Given the description of an element on the screen output the (x, y) to click on. 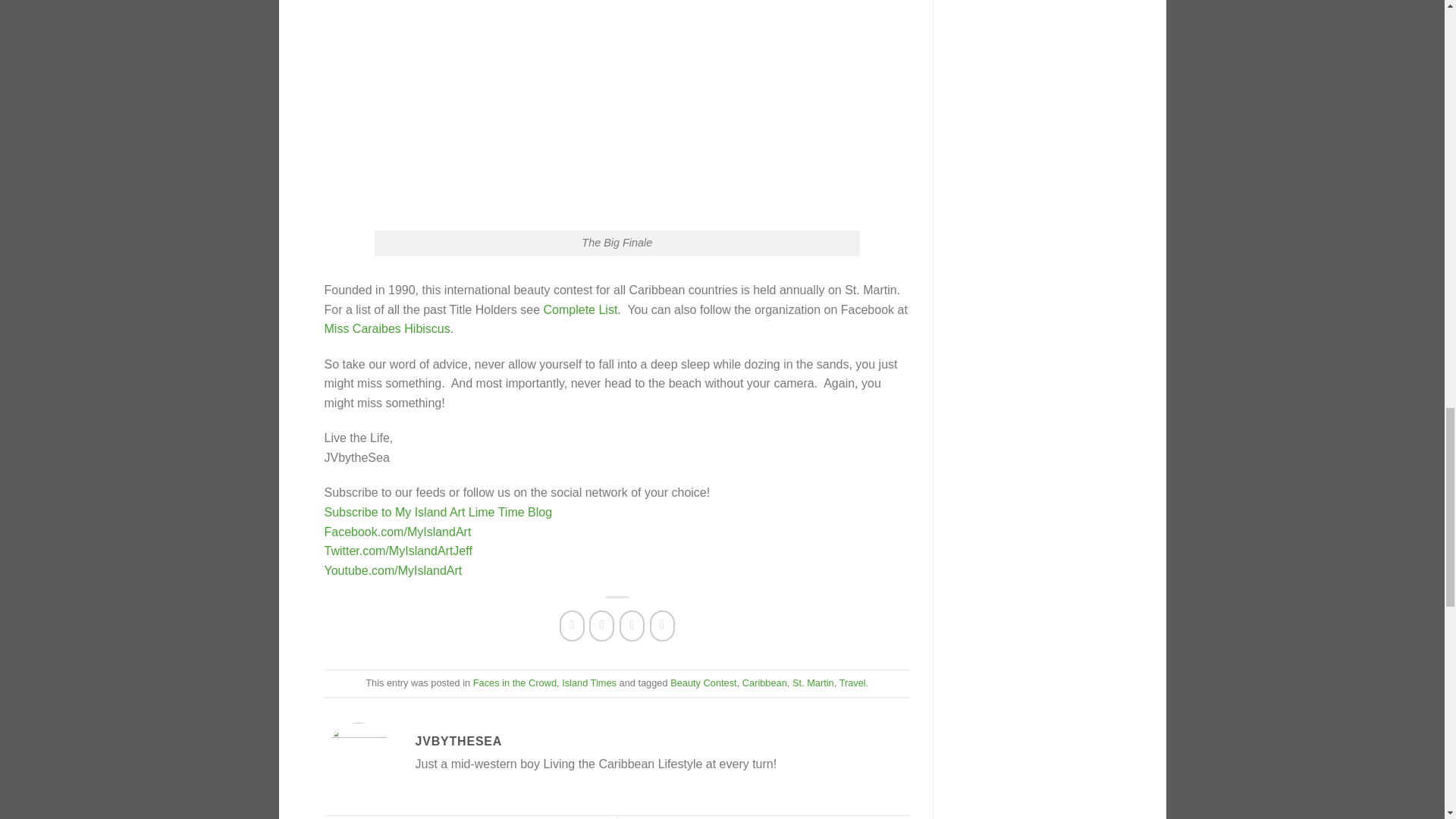
Miss Caribe Hibiscus Winners (580, 309)
Island Art on Facebook (397, 531)
Island Art on Twitter (397, 550)
Beauty 3 (617, 115)
Miss Caraibes Hibiscus (386, 328)
